Given the description of an element on the screen output the (x, y) to click on. 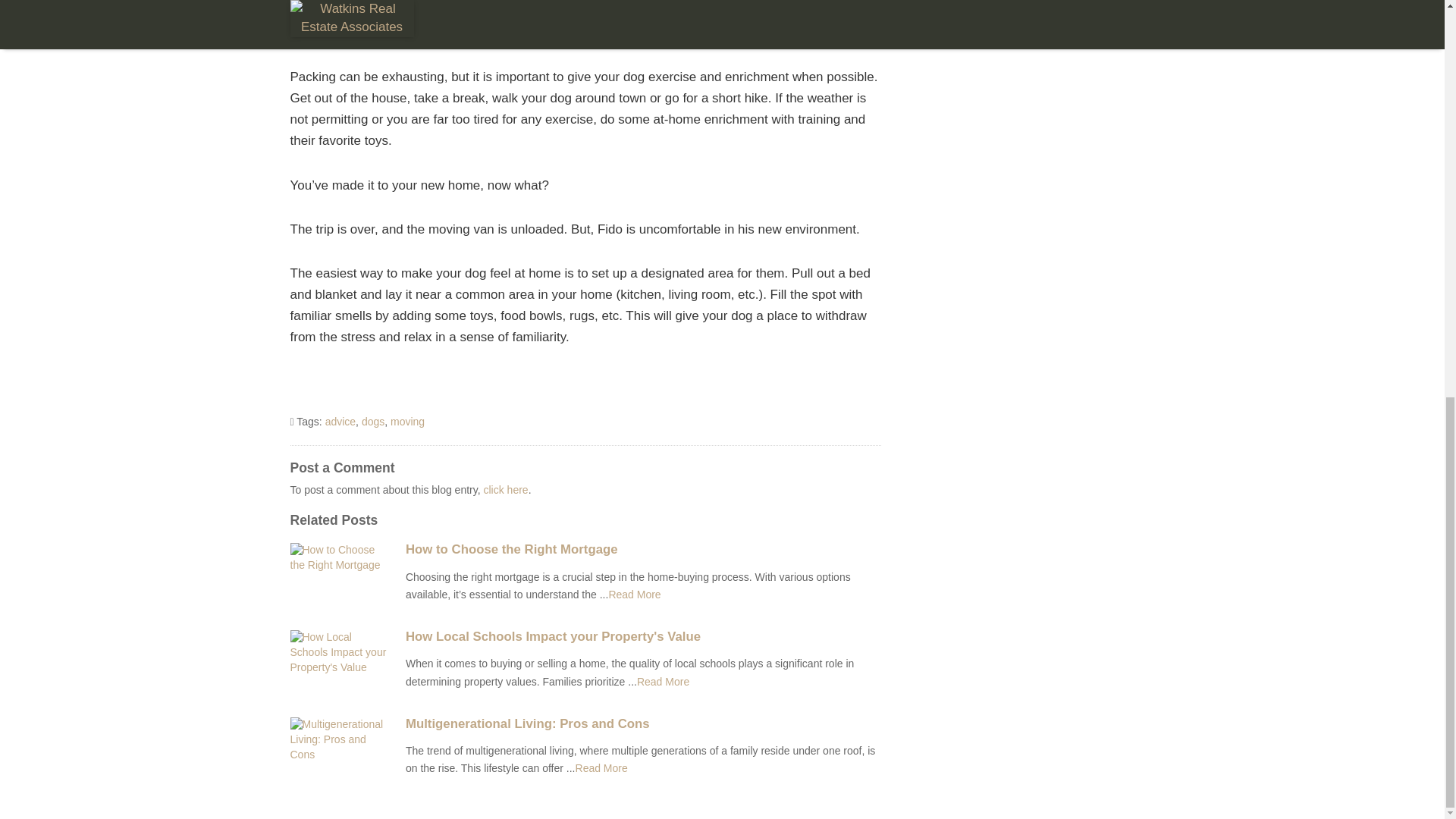
Moving with Dogs (634, 594)
How Local Schools Impact your Property's Value (643, 636)
Moving with Dogs (662, 681)
Multigenerational Living: Pros and Cons (643, 724)
Moving with Dogs (601, 767)
How to Choose the Right Mortgage (643, 549)
